Given the description of an element on the screen output the (x, y) to click on. 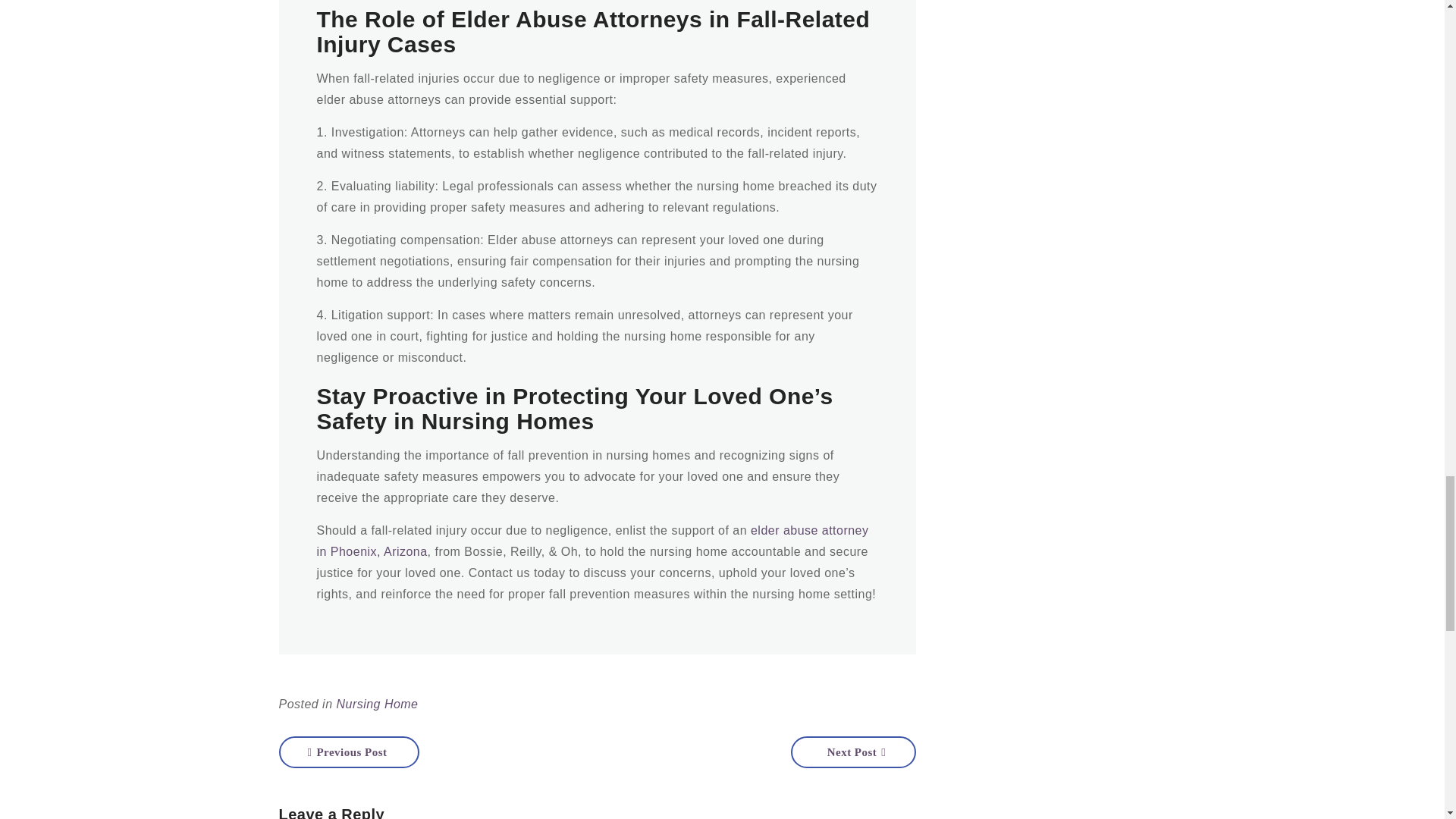
Next Post (852, 752)
Nursing Home (376, 703)
elder abuse attorney in Phoenix, Arizona (593, 540)
Previous Post (349, 752)
